Given the description of an element on the screen output the (x, y) to click on. 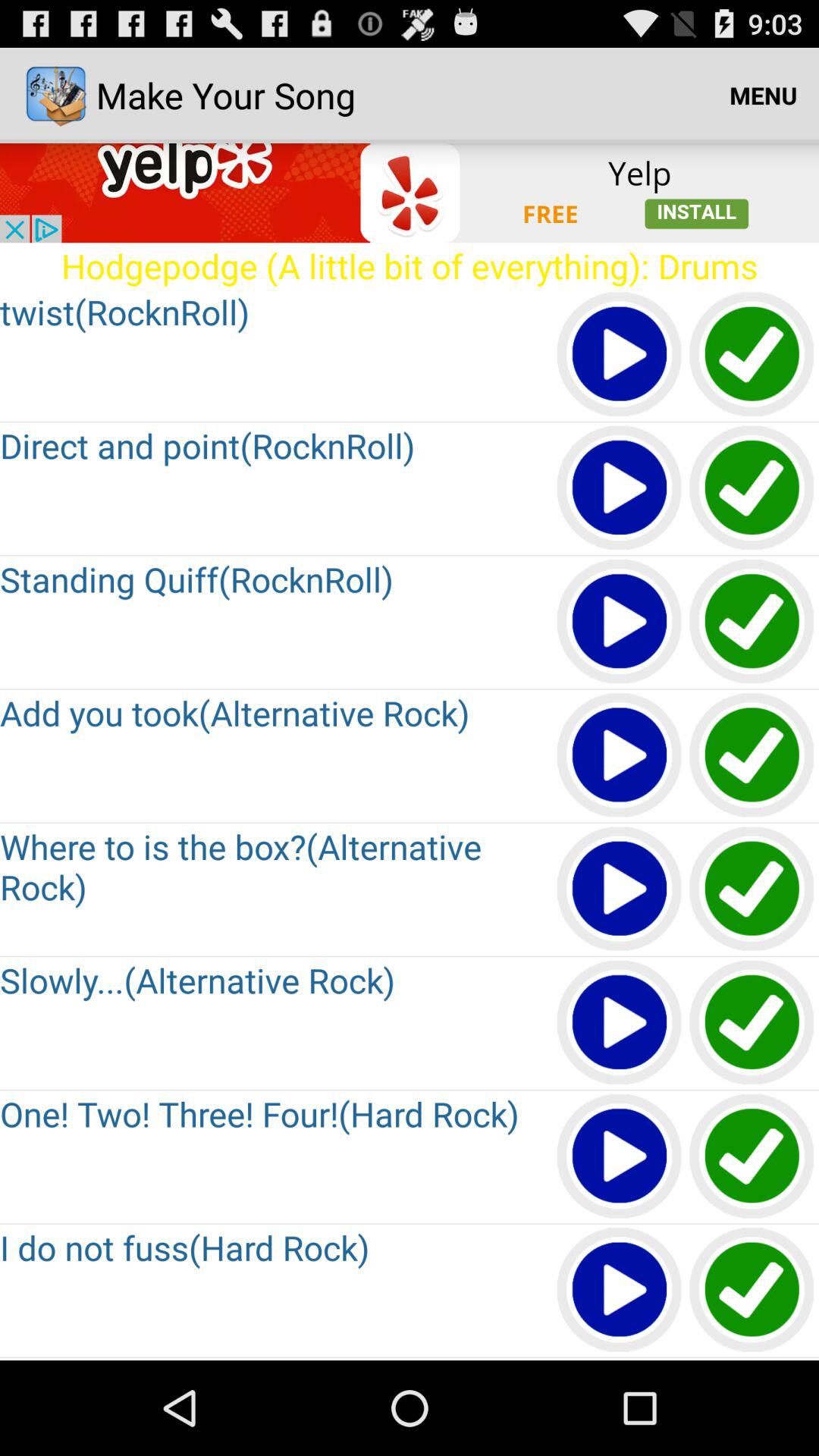
enable button (752, 622)
